Given the description of an element on the screen output the (x, y) to click on. 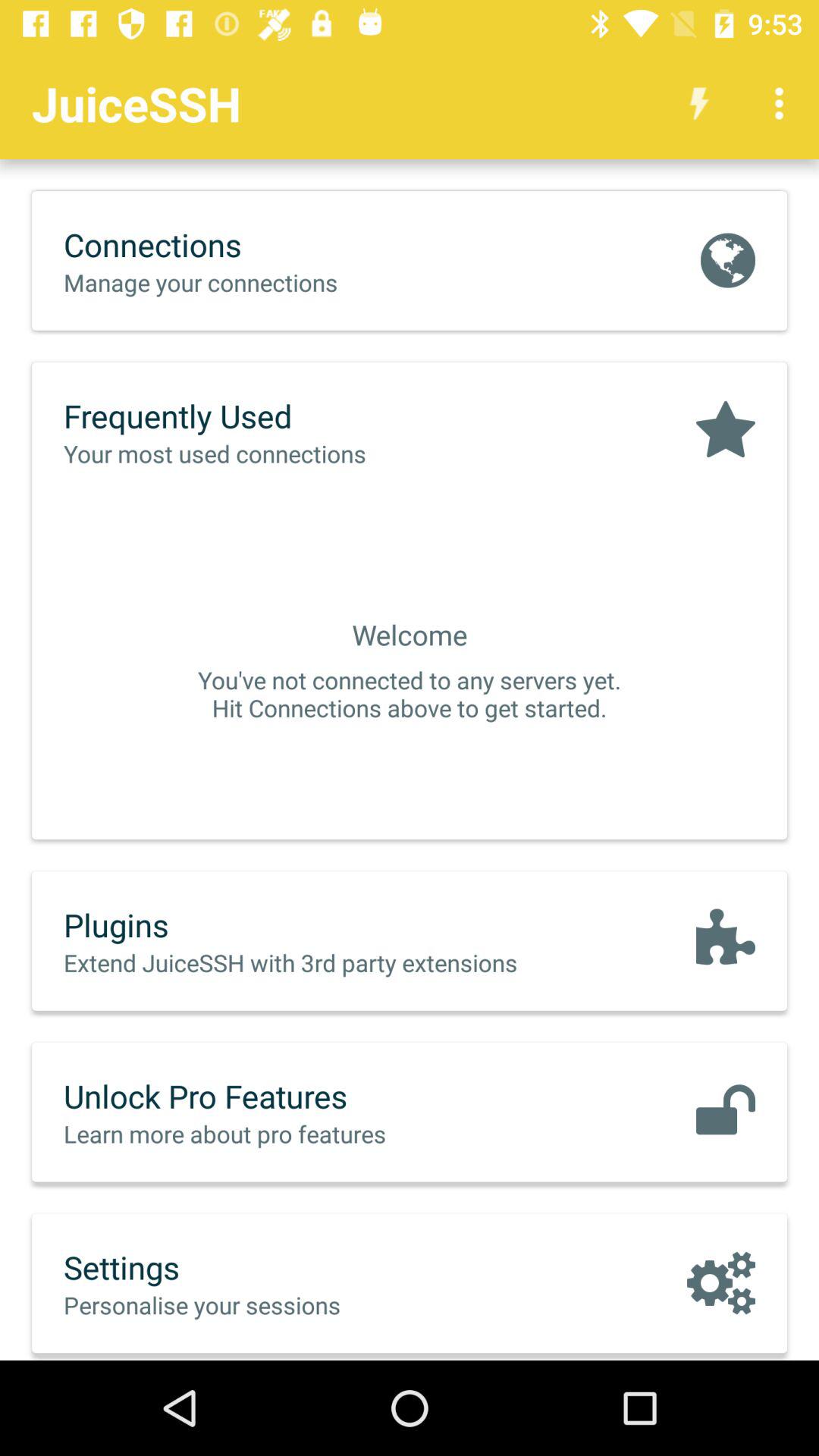
select the icon above the extend juicessh with icon (322, 924)
